Given the description of an element on the screen output the (x, y) to click on. 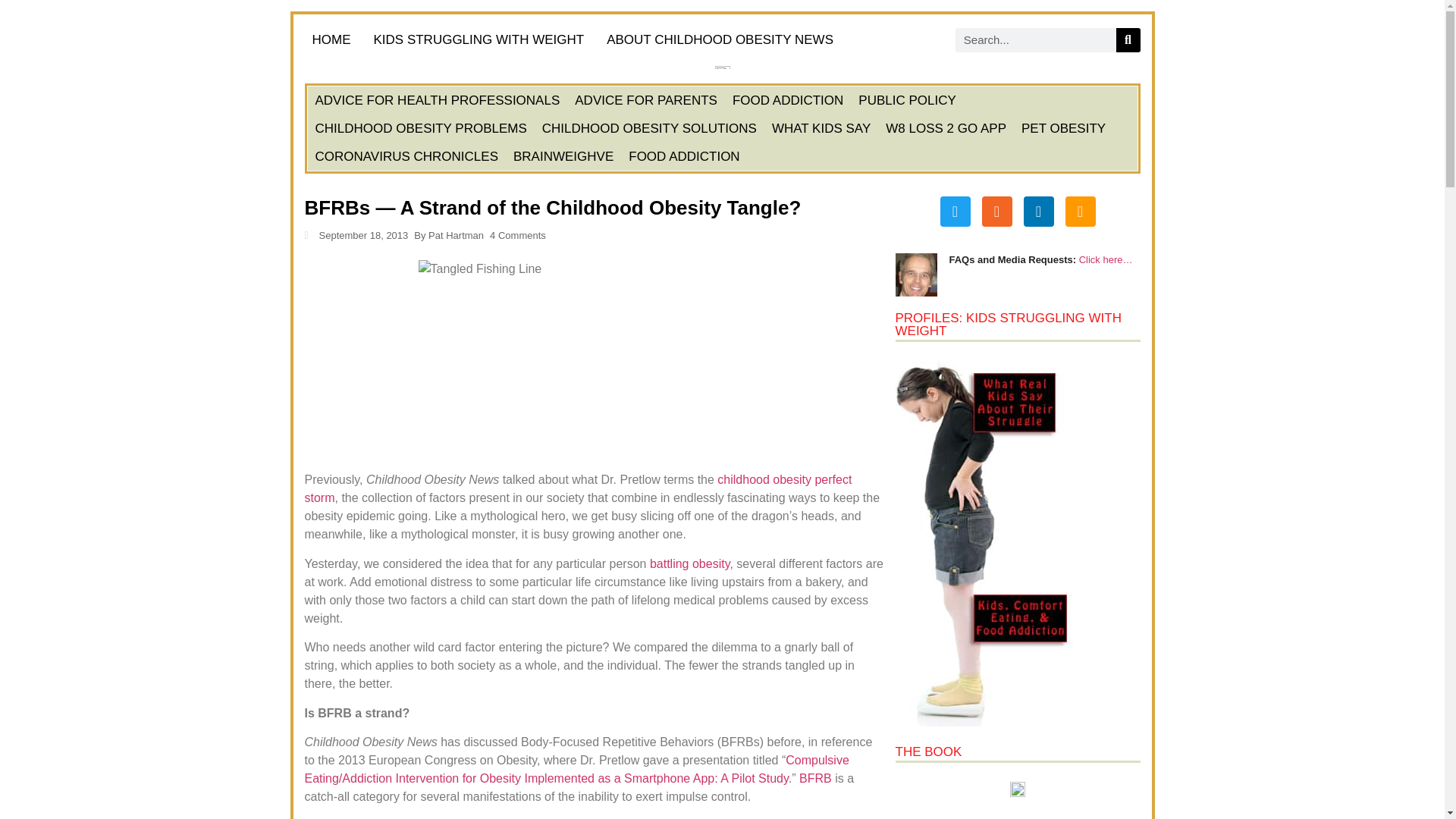
FOOD ADDICTION (787, 100)
CHILDHOOD OBESITY SOLUTIONS (649, 128)
HOME (331, 39)
KIDS STRUGGLING WITH WEIGHT (478, 39)
ADVICE FOR PARENTS (646, 100)
Body-Focused Repetitive Disorders (815, 778)
BRAINWEIGHVE (563, 156)
ADVICE FOR HEALTH PROFESSIONALS (437, 100)
Strands of the Childhood Obesity Tangle (689, 563)
WHAT KIDS SAY (820, 128)
